Given the description of an element on the screen output the (x, y) to click on. 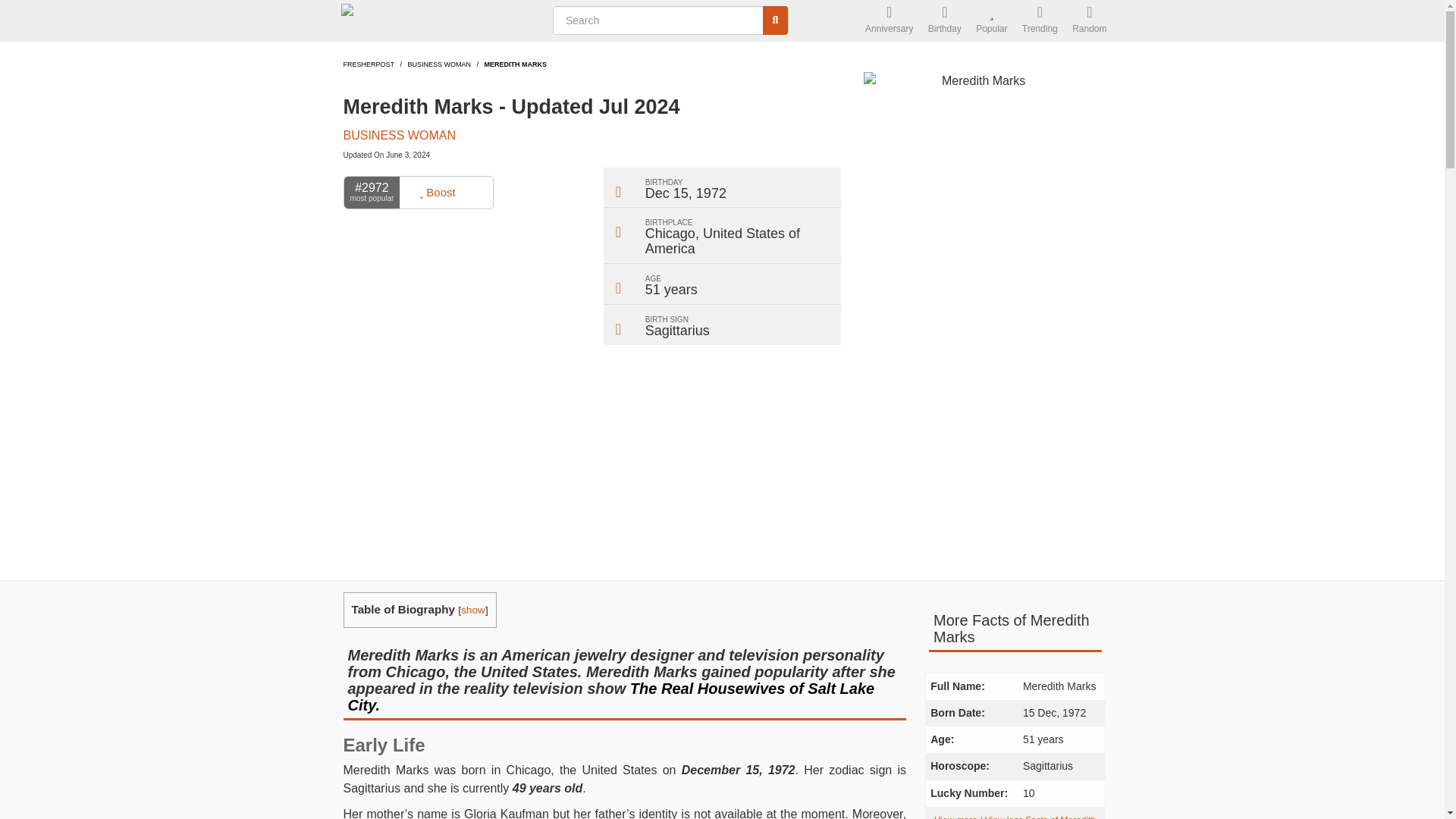
BUSINESS WOMAN (439, 63)
show (472, 609)
Trending (1040, 21)
Today Anniversary (888, 21)
Business Woman (439, 63)
Birthday (944, 21)
Sagittarius (677, 330)
Fresher Post (438, 21)
BUSINESS WOMAN (398, 134)
Random (1088, 21)
51 years (671, 289)
Popular (991, 21)
Chicago (670, 233)
Anniversary (888, 21)
The Real Housewives of Salt Lake City. (611, 696)
